Given the description of an element on the screen output the (x, y) to click on. 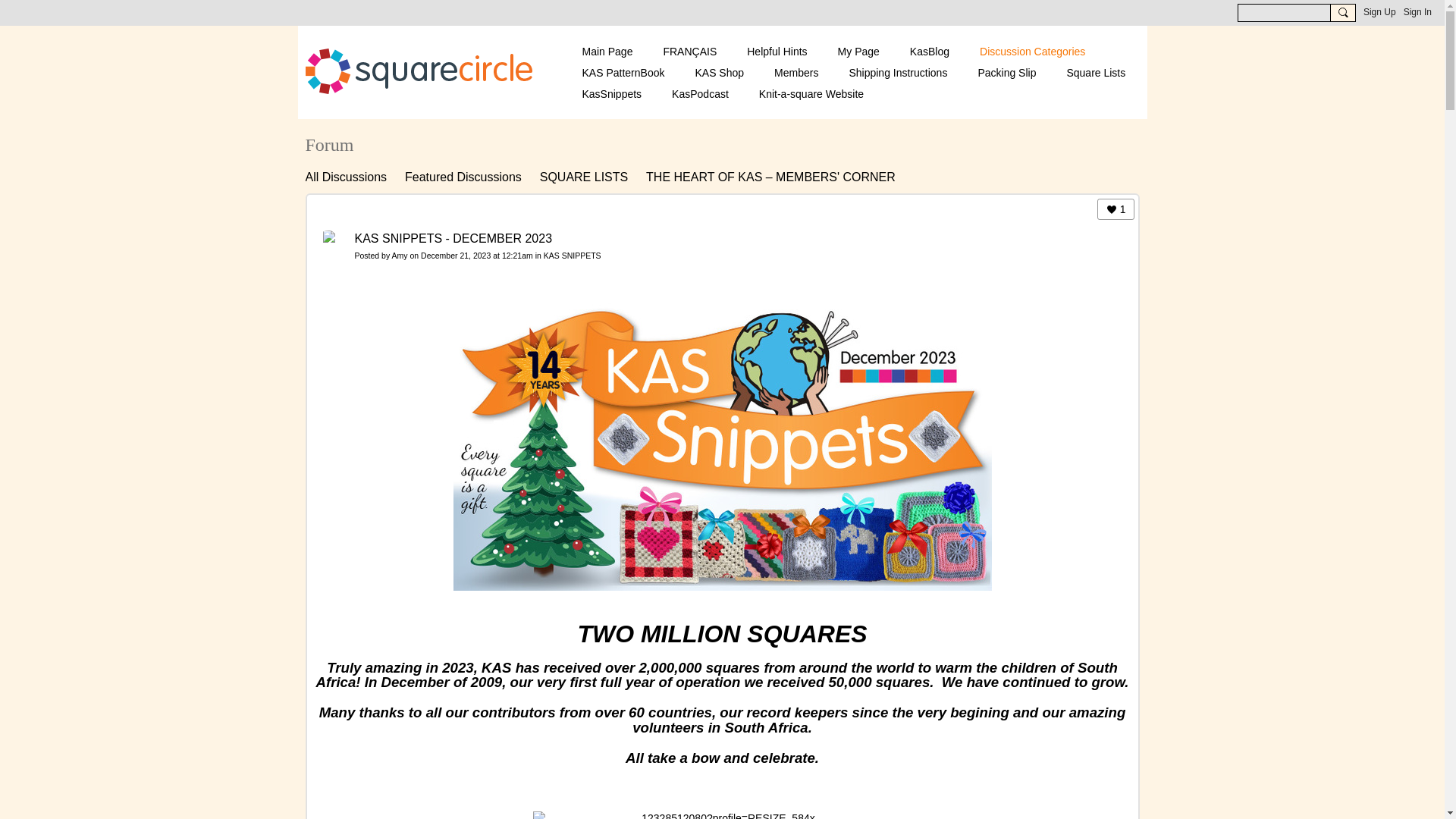
Sign In (1417, 12)
Featured Discussions (462, 177)
Packing Slip (1006, 72)
KasSnippets (611, 93)
Helpful Hints (776, 51)
KasBlog (929, 51)
Members (795, 72)
Discussion Categories (1032, 51)
My Page (859, 51)
Shipping Instructions (897, 72)
Knit-a-square Website (811, 93)
All Discussions (345, 177)
KAS Shop (718, 72)
SQUARE LISTS (583, 177)
KasPodcast (700, 93)
